Given the description of an element on the screen output the (x, y) to click on. 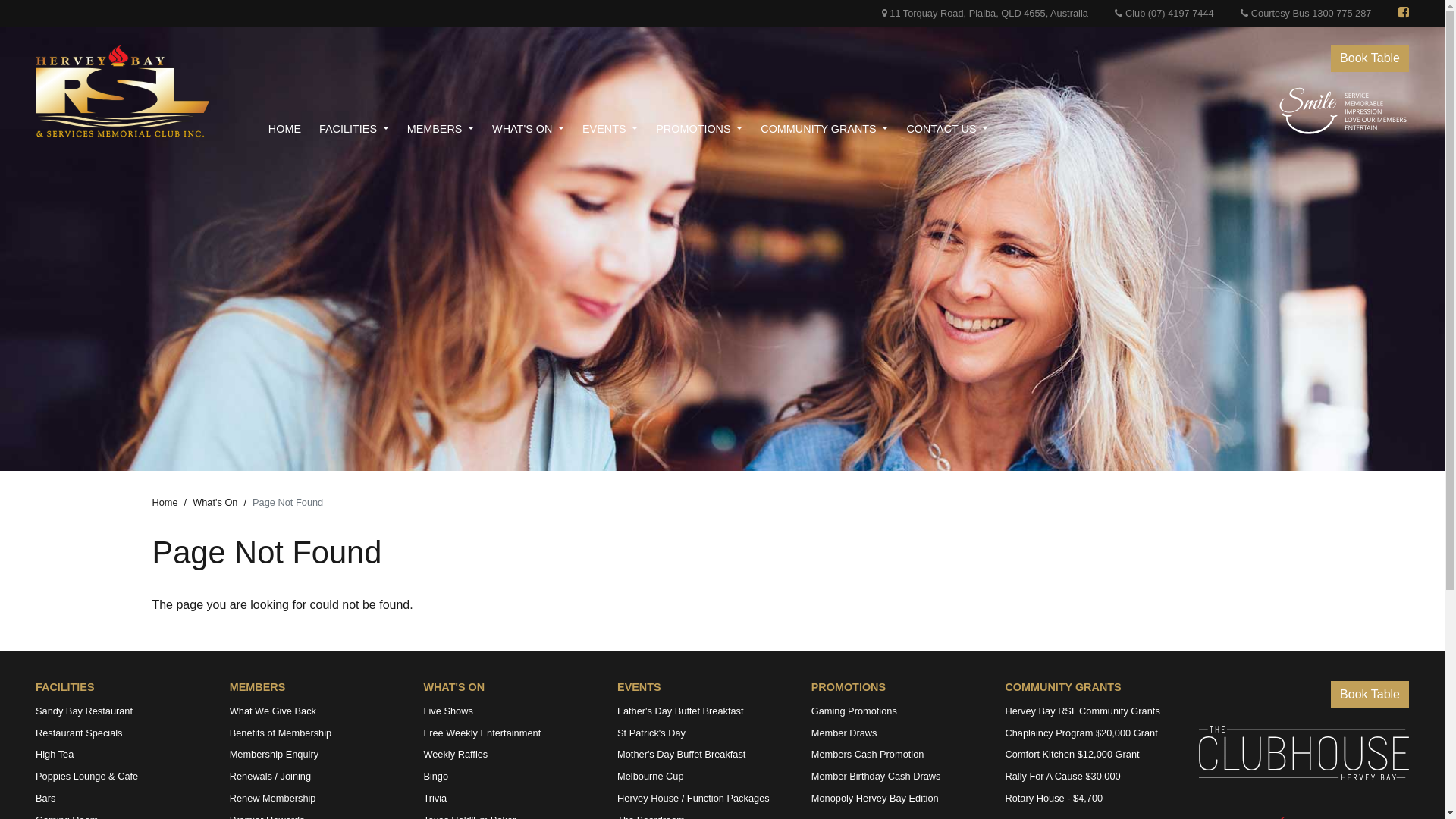
Facebook Element type: hover (1403, 12)
COMMUNITY GRANTS Element type: text (1062, 686)
PROMOTIONS Element type: text (848, 686)
Book Table Element type: text (1369, 694)
HOME Element type: text (293, 129)
Gaming Promotions Element type: text (896, 710)
Live Shows Element type: text (508, 710)
Member Birthday Cash Draws Element type: text (896, 776)
WHAT'S ON Element type: text (537, 129)
Membership Enquiry Element type: text (315, 754)
Members Cash Promotion Element type: text (896, 754)
Book Table Element type: text (1369, 58)
Free Weekly Entertainment Element type: text (508, 732)
MEMBERS Element type: text (257, 686)
What's On Element type: text (214, 502)
High Tea Element type: text (121, 754)
Hervey House / Function Packages Element type: text (702, 798)
CONTACT US Element type: text (956, 129)
Renewals / Joining Element type: text (315, 776)
Poppies Lounge & Cafe Element type: text (121, 776)
Comfort Kitchen $12,000 Grant Element type: text (1090, 754)
Bars Element type: text (121, 798)
Rotary House - $4,700 Element type: text (1090, 798)
Member Draws Element type: text (896, 732)
EVENTS Element type: text (639, 686)
Monopoly Hervey Bay Edition Element type: text (896, 798)
Home Element type: text (164, 502)
Melbourne Cup Element type: text (702, 776)
Chaplaincy Program $20,000 Grant Element type: text (1090, 732)
Sandy Bay Restaurant Element type: text (121, 710)
Benefits of Membership Element type: text (315, 732)
PROMOTIONS Element type: text (707, 129)
Trivia Element type: text (508, 798)
Rally For A Cause $30,000 Element type: text (1090, 776)
FACILITIES Element type: text (64, 686)
FACILITIES Element type: text (363, 129)
Bingo Element type: text (508, 776)
Renew Membership Element type: text (315, 798)
Restaurant Specials Element type: text (121, 732)
Weekly Raffles Element type: text (508, 754)
St Patrick's Day Element type: text (702, 732)
COMMUNITY GRANTS Element type: text (833, 129)
Hervey Bay RSL Community Grants Element type: text (1090, 710)
What We Give Back Element type: text (315, 710)
MEMBERS Element type: text (449, 129)
Father's Day Buffet Breakfast Element type: text (702, 710)
WHAT'S ON Element type: text (453, 686)
Mother's Day Buffet Breakfast Element type: text (702, 754)
EVENTS Element type: text (618, 129)
